Given the description of an element on the screen output the (x, y) to click on. 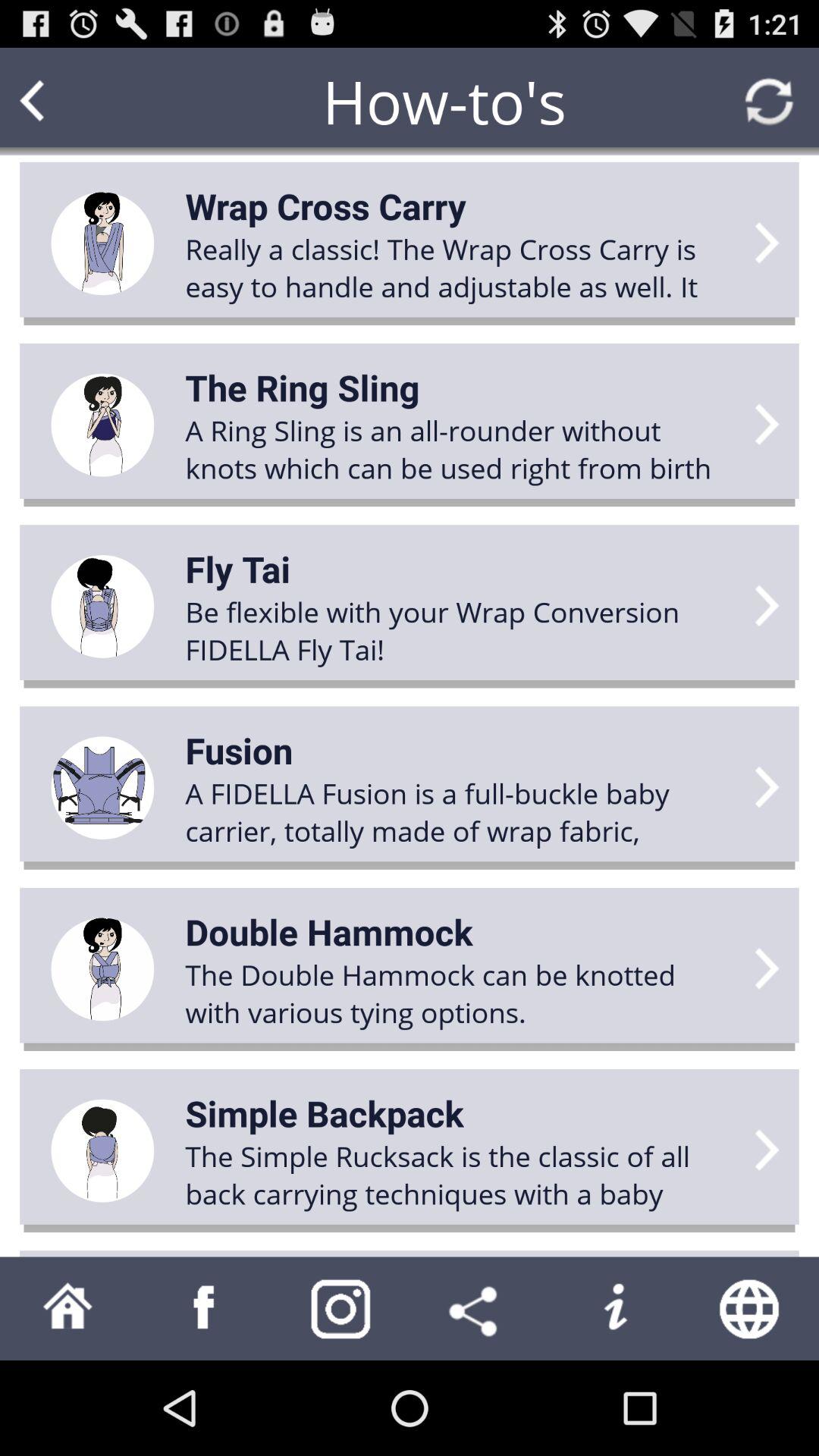
share tutorials (477, 1308)
